Given the description of an element on the screen output the (x, y) to click on. 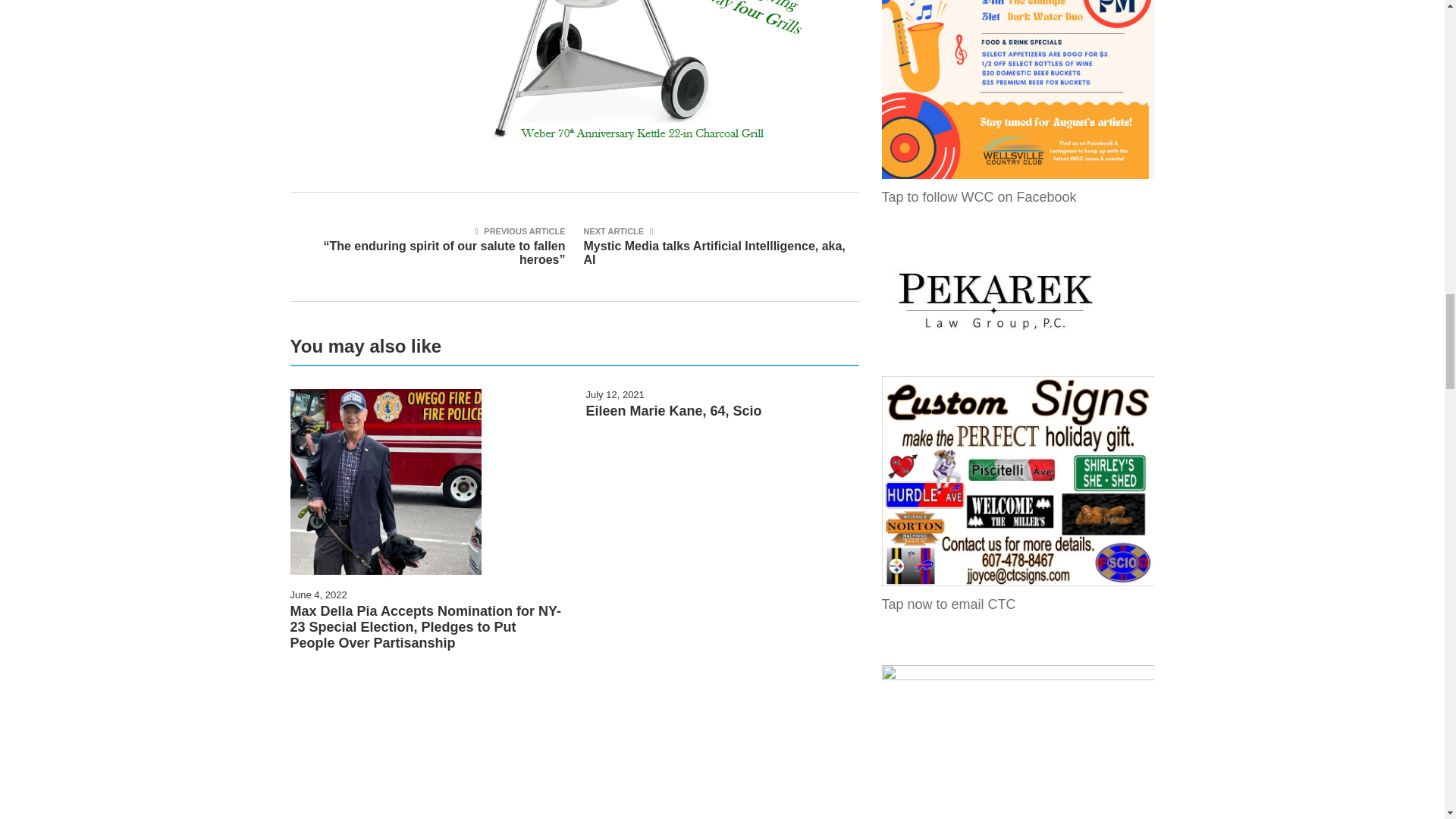
Eileen Marie Kane, 64, Scio (673, 410)
